Given the description of an element on the screen output the (x, y) to click on. 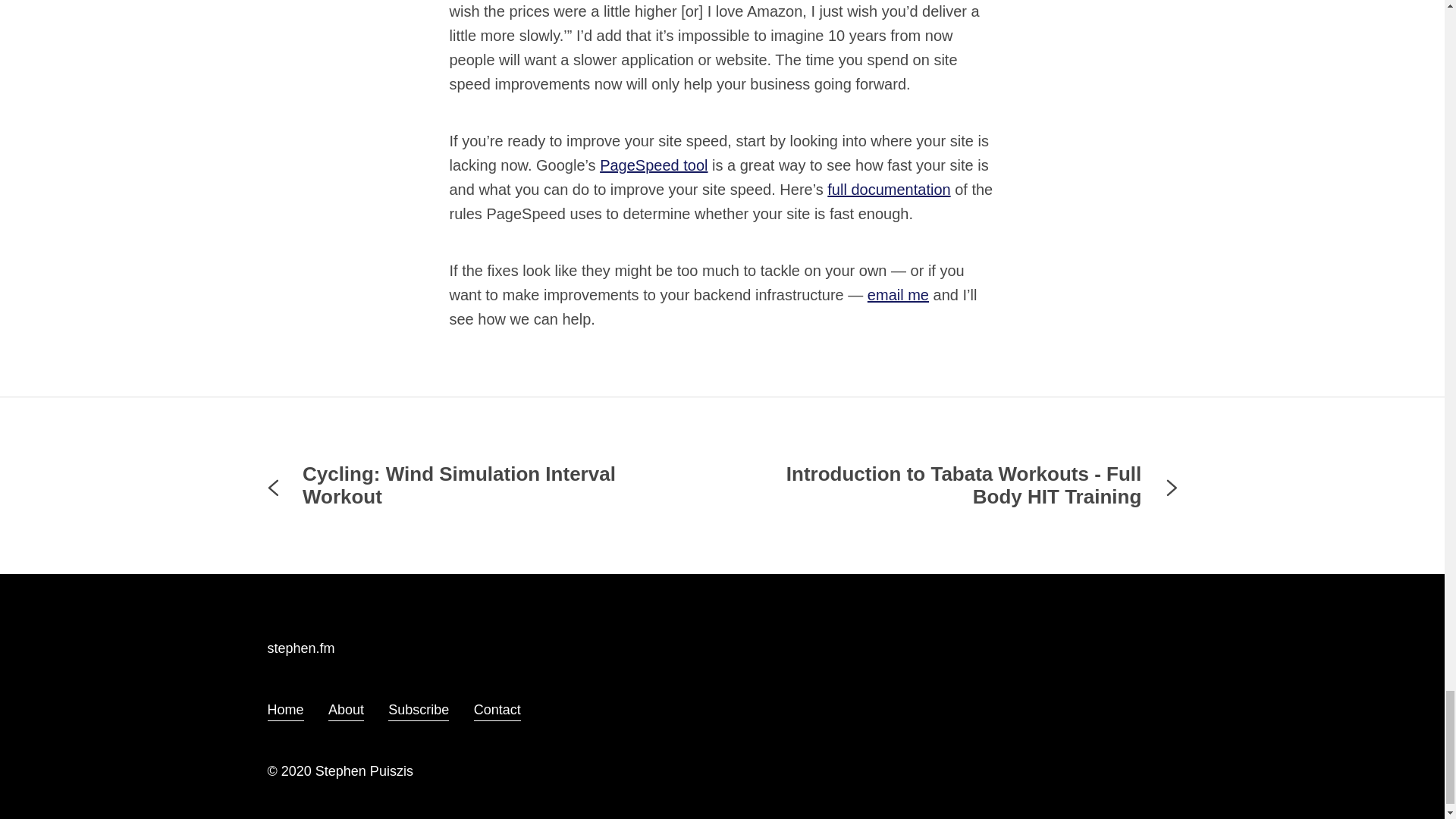
Cycling: Wind Simulation Interval Workout (477, 485)
About (346, 709)
email me (897, 294)
PageSpeed tool (653, 165)
full documentation (888, 189)
Home (284, 709)
Contact (497, 709)
Introduction to Tabata Workouts - Full Body HIT Training (966, 485)
Subscribe (418, 709)
